Given the description of an element on the screen output the (x, y) to click on. 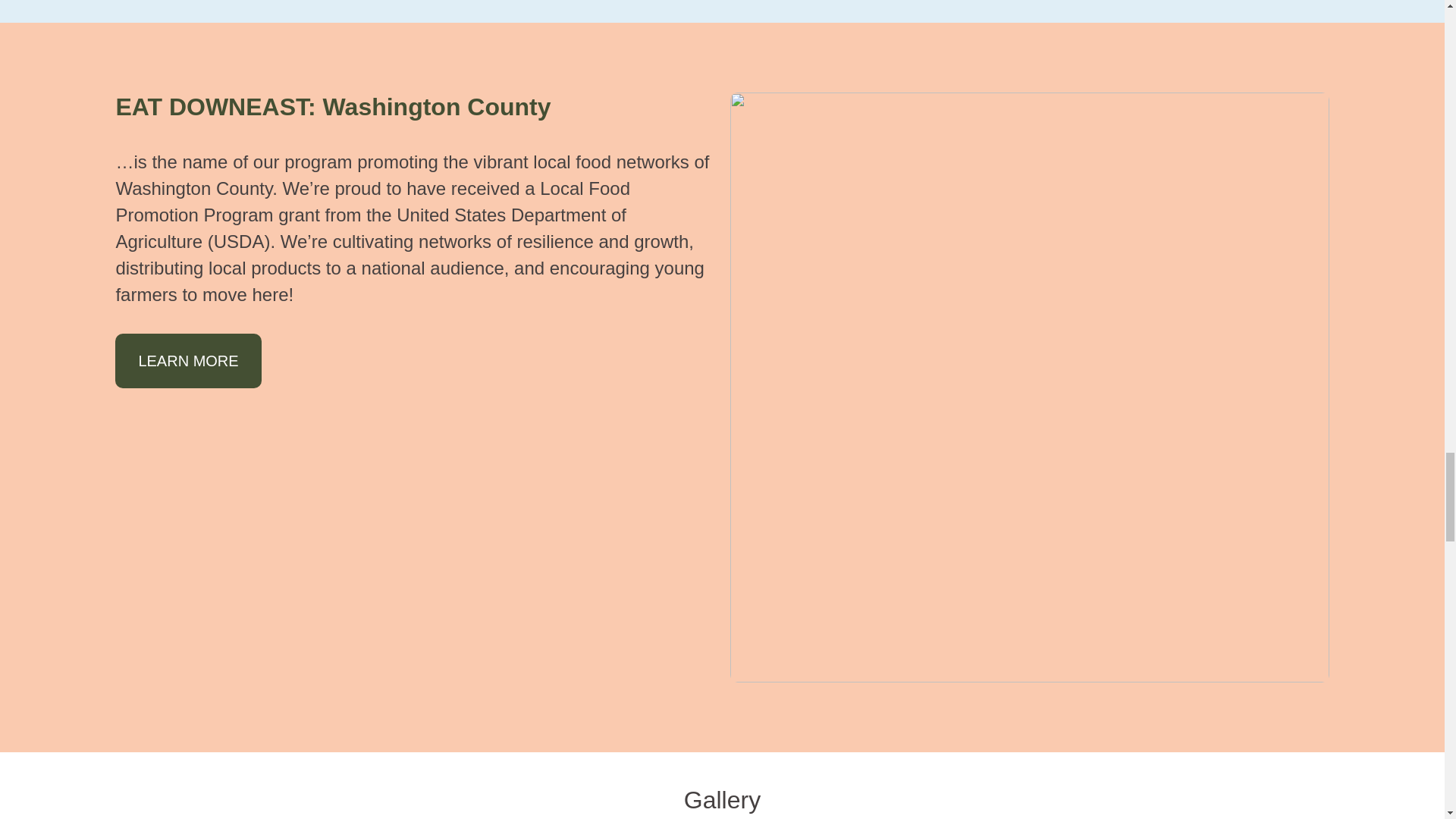
LEARN MORE (187, 360)
